Given the description of an element on the screen output the (x, y) to click on. 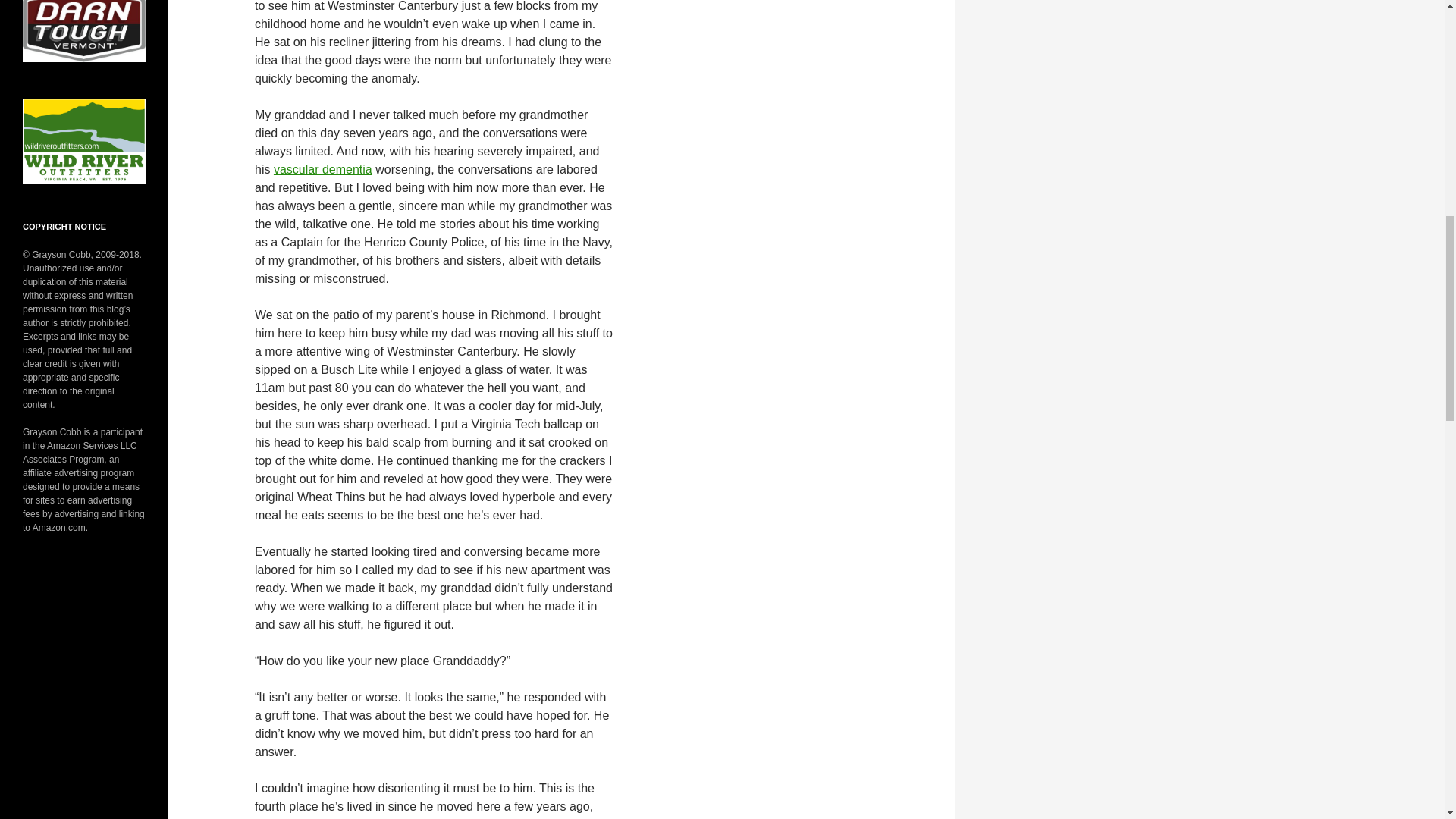
vascular dementia (322, 169)
